Given the description of an element on the screen output the (x, y) to click on. 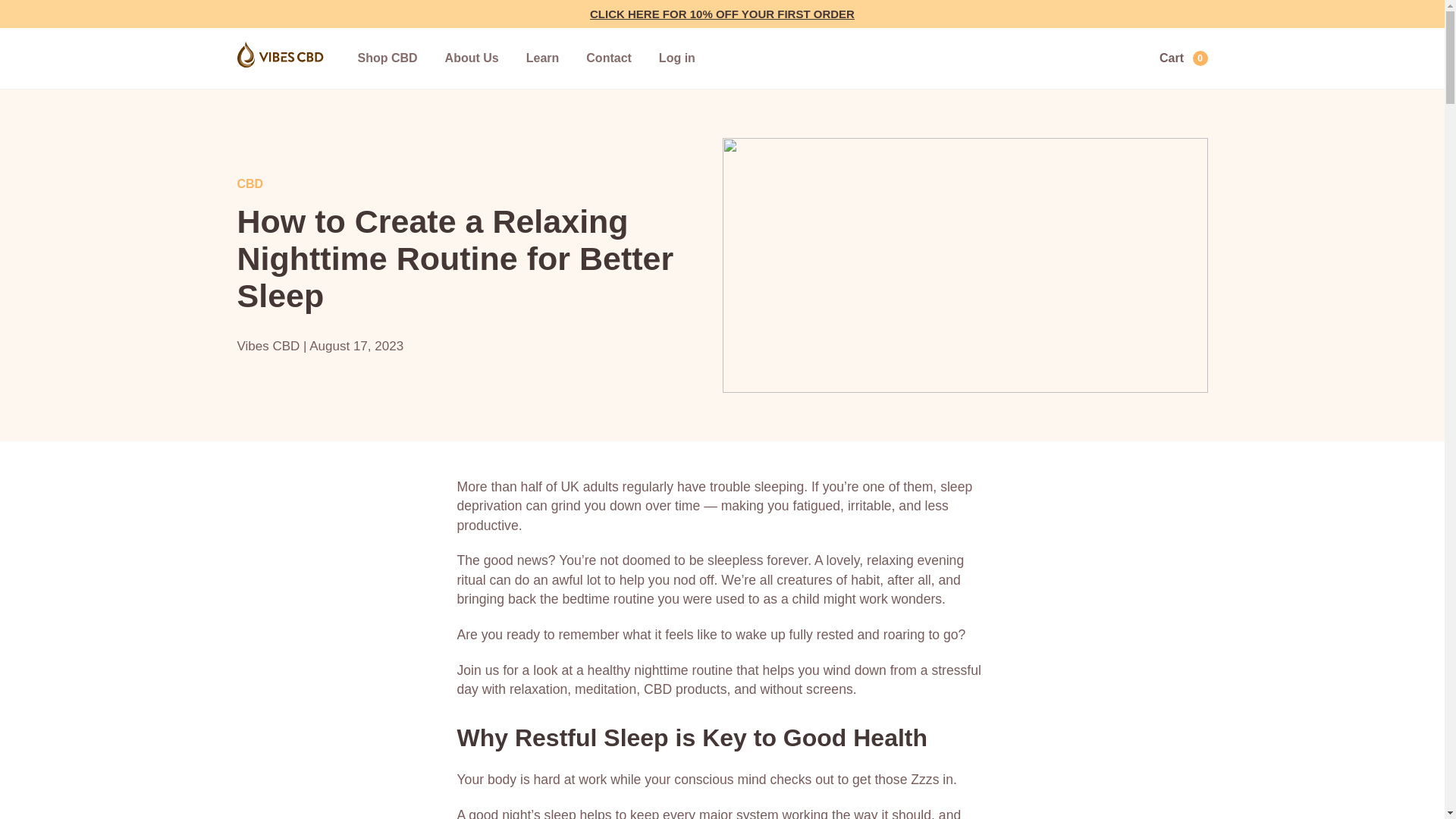
Learn (542, 57)
Cart 0 (1171, 53)
Contact (608, 57)
About Us (472, 57)
Shop CBD (387, 57)
Log in (677, 57)
